Given the description of an element on the screen output the (x, y) to click on. 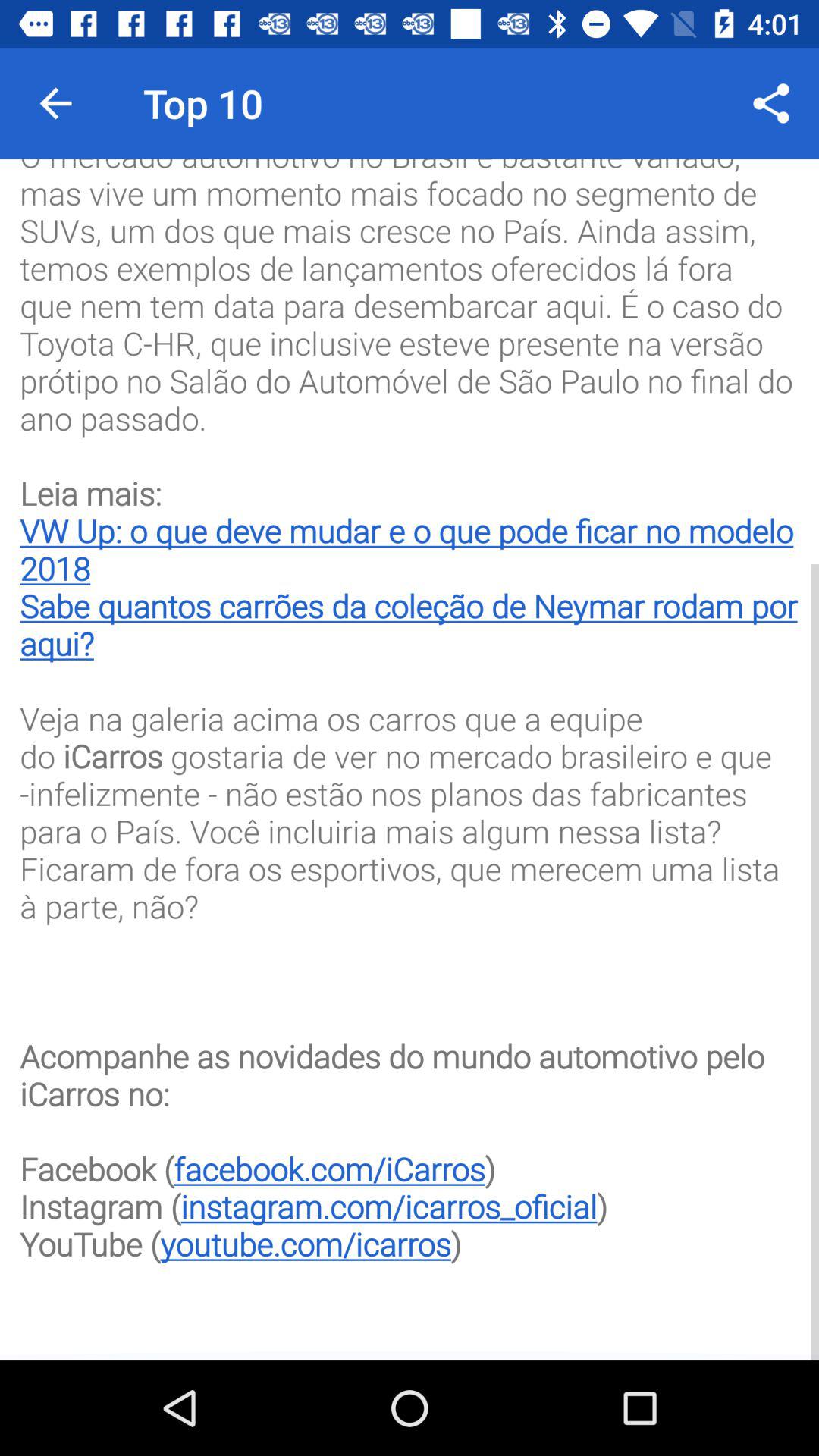
choose item above the o mercado automotivo (55, 103)
